Given the description of an element on the screen output the (x, y) to click on. 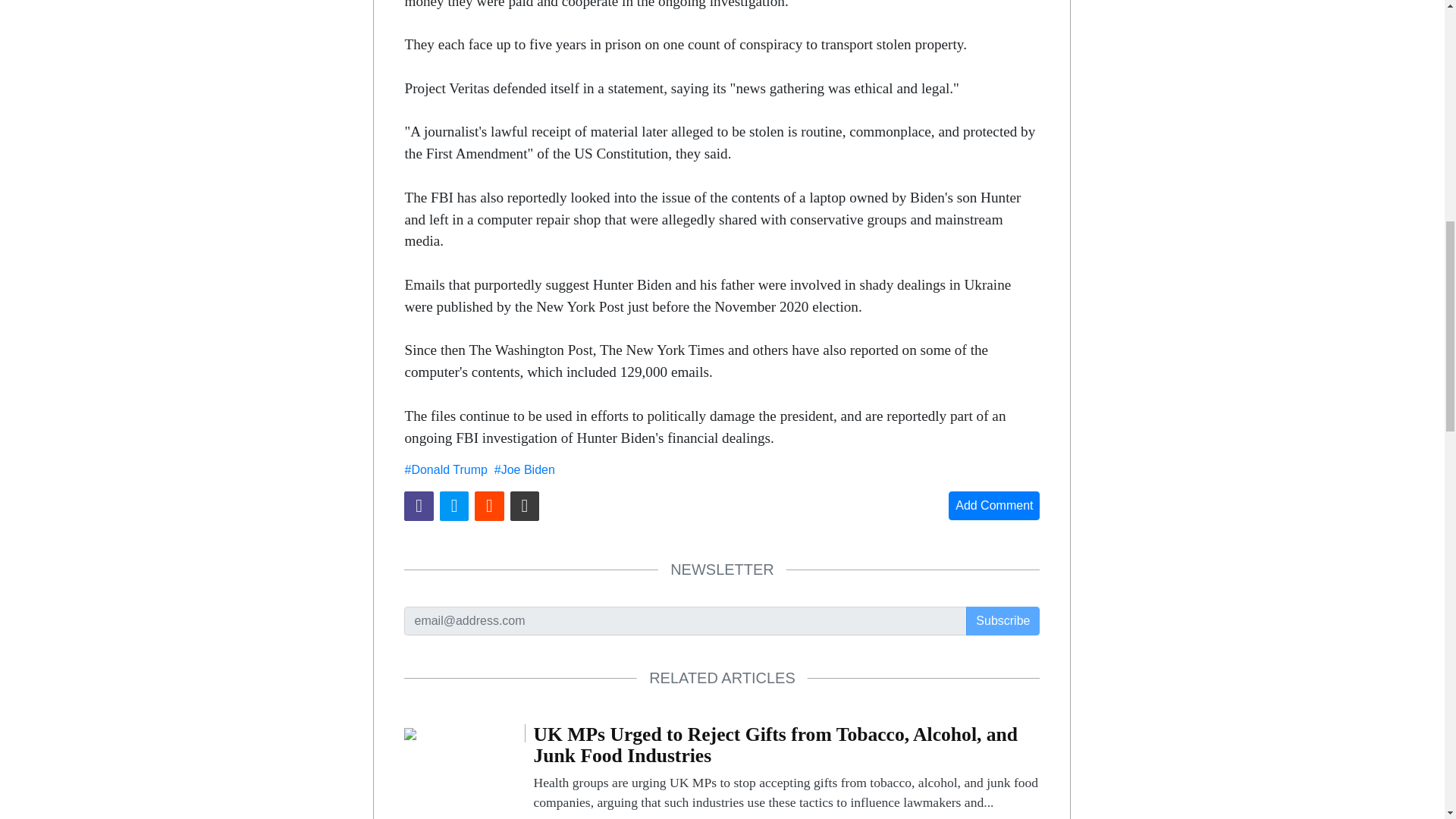
Subscribe (1002, 620)
Add Comment (994, 505)
